Given the description of an element on the screen output the (x, y) to click on. 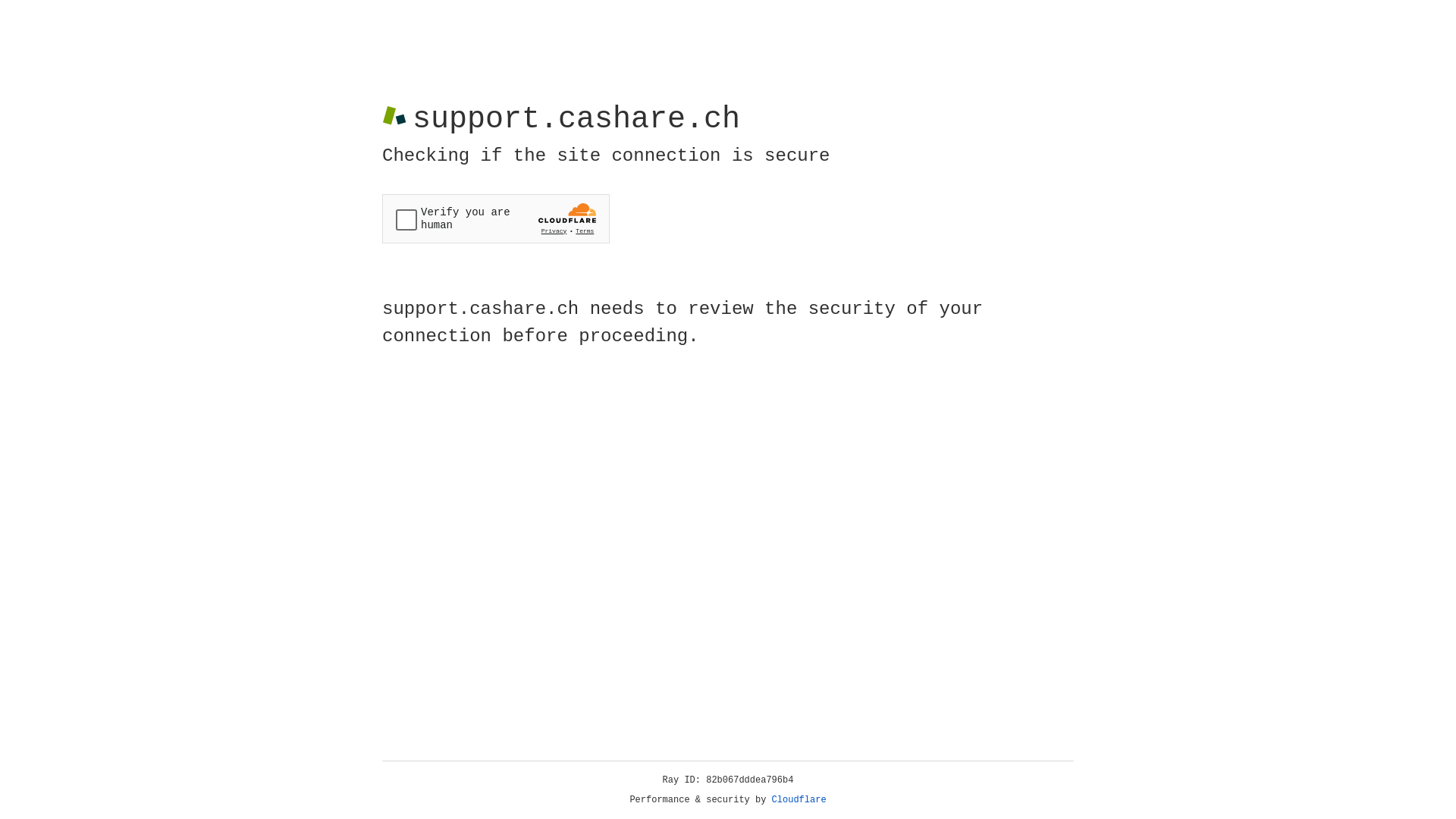
Cloudflare Element type: text (798, 799)
Widget containing a Cloudflare security challenge Element type: hover (495, 218)
